Given the description of an element on the screen output the (x, y) to click on. 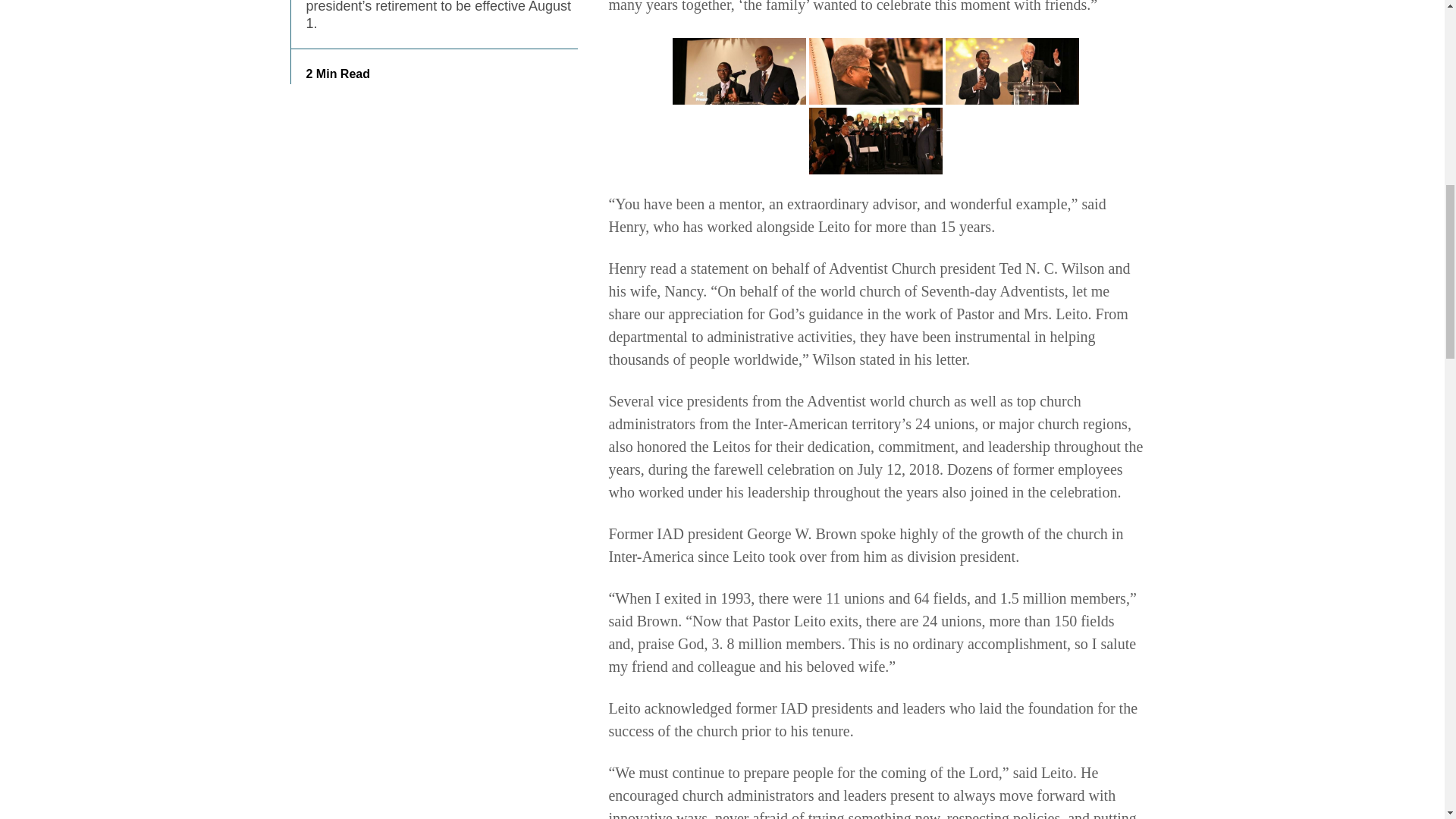
leito-farewell-dept-choir (875, 140)
leito-farewell-brown (1011, 71)
leito-farewell-ludmila (875, 71)
leito-farewell-henry (739, 71)
